Given the description of an element on the screen output the (x, y) to click on. 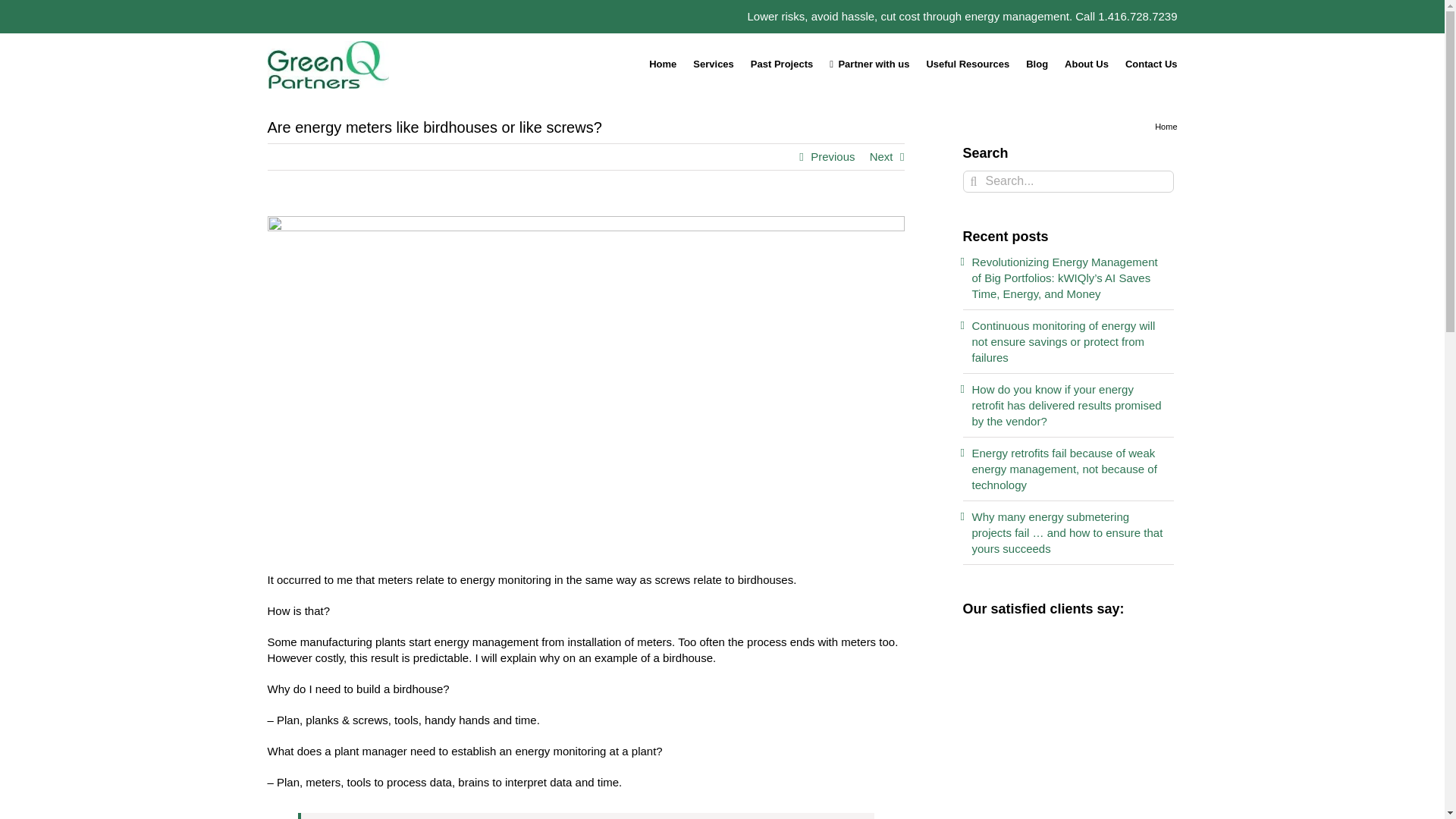
Useful Resources (967, 63)
Partner with us (868, 63)
Past Projects (781, 63)
Services (713, 63)
About Us (1086, 63)
Contact Us (1151, 63)
